Given the description of an element on the screen output the (x, y) to click on. 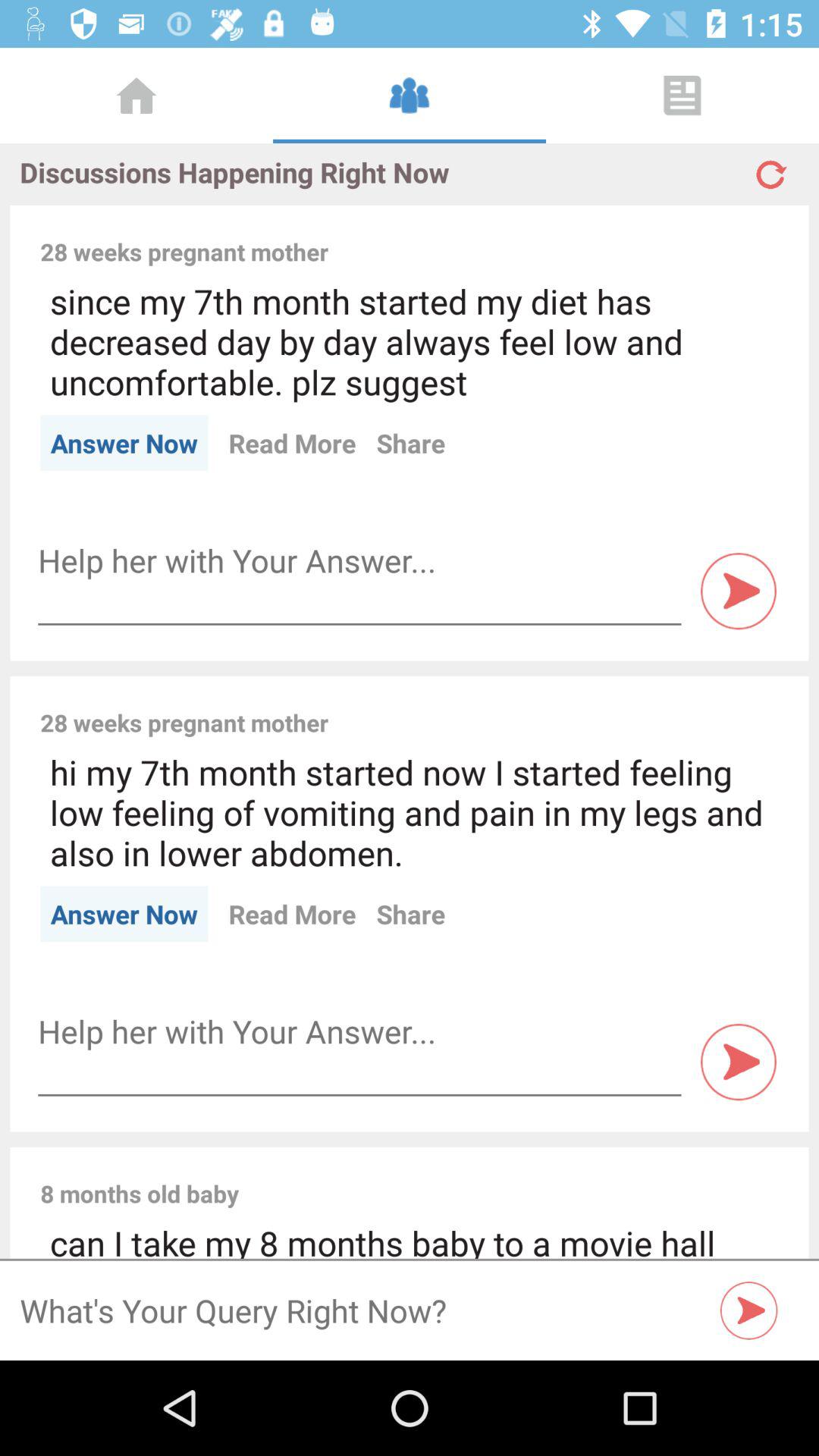
submit query (749, 1310)
